Given the description of an element on the screen output the (x, y) to click on. 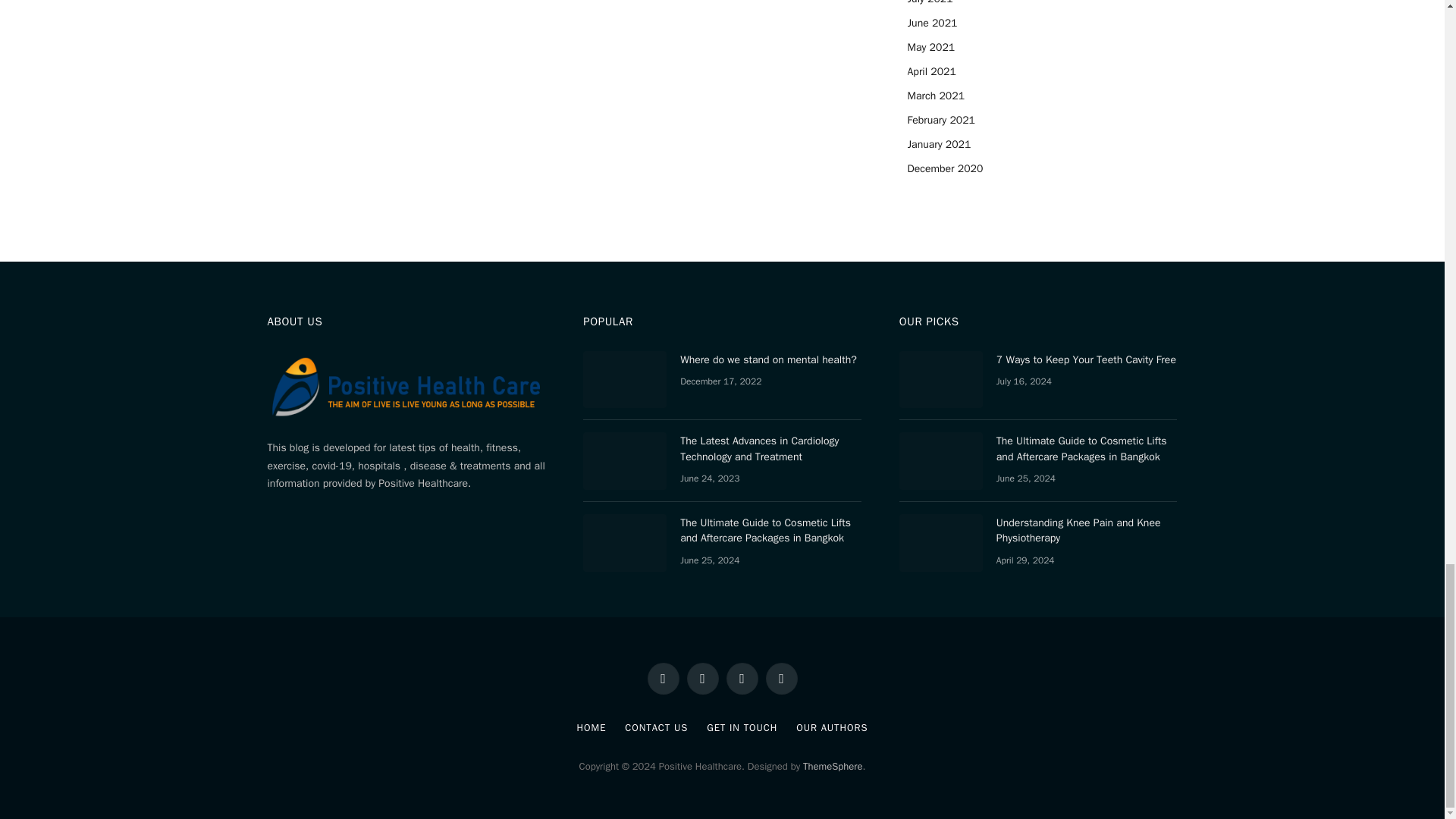
The Latest Advances in Cardiology Technology and Treatment (624, 460)
Where do we stand on mental health? (624, 378)
